Given the description of an element on the screen output the (x, y) to click on. 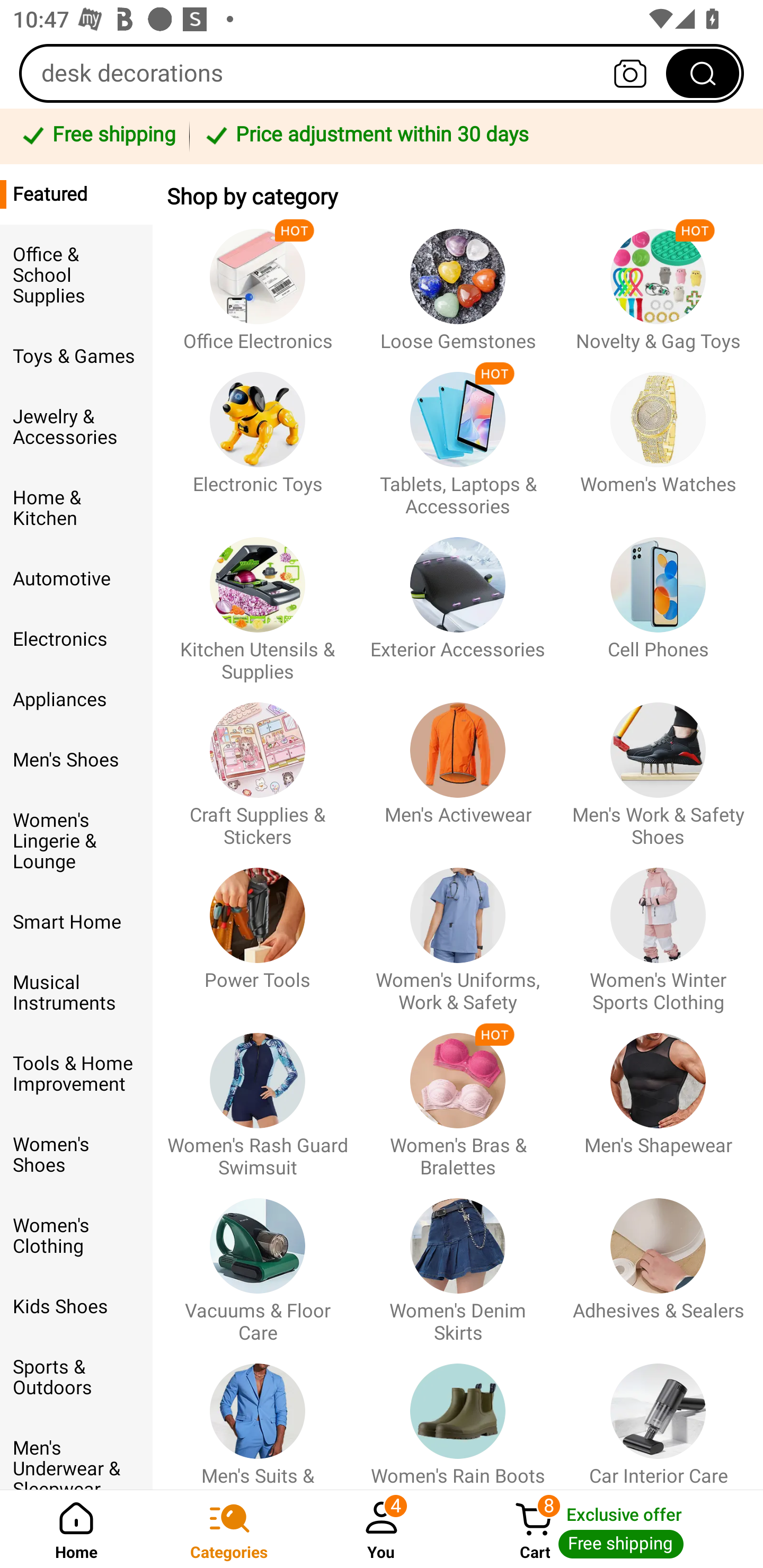
desk decorations (381, 73)
Free shipping (97, 136)
Price adjustment within 30 days (472, 136)
Featured (76, 194)
Office Electronics (257, 281)
Loose Gemstones (457, 281)
Novelty & Gag Toys (657, 281)
Office & School Supplies (76, 275)
Toys & Games (76, 356)
Electronic Toys (257, 434)
Tablets, Laptops & Accessories (457, 434)
Women's Watches (657, 434)
Jewelry & Accessories (76, 427)
Home & Kitchen (76, 507)
Kitchen Utensils & Supplies (257, 600)
Exterior Accessories (457, 600)
Cell Phones (657, 600)
Automotive (76, 578)
Electronics (76, 639)
Appliances (76, 699)
Craft Supplies & Stickers (257, 765)
Men's Activewear (457, 765)
Men's Work & Safety Shoes (657, 765)
Men's Shoes (76, 760)
Women's Lingerie & Lounge (76, 841)
Power Tools (257, 931)
Women's Uniforms, Work & Safety (457, 931)
Women's Winter Sports Clothing (657, 931)
Smart Home (76, 921)
Musical Instruments (76, 992)
Women's Rash Guard Swimsuit (257, 1096)
Women's Bras & Bralettes (457, 1096)
Men's Shapewear (657, 1096)
Tools & Home Improvement (76, 1073)
Women's Shoes (76, 1154)
Vacuums & Floor Care (257, 1261)
Women's Denim Skirts (457, 1261)
Adhesives & Sealers (657, 1261)
Women's Clothing (76, 1235)
Kids Shoes (76, 1306)
Sports & Outdoors (76, 1377)
Men's Suits & Separates (257, 1416)
Women's Rain Boots (457, 1416)
Car Interior Care (657, 1416)
Men's Underwear & Sleepwear (76, 1453)
Home (76, 1528)
Categories (228, 1528)
You 4 You (381, 1528)
Cart 8 Cart Exclusive offer (610, 1528)
